Given the description of an element on the screen output the (x, y) to click on. 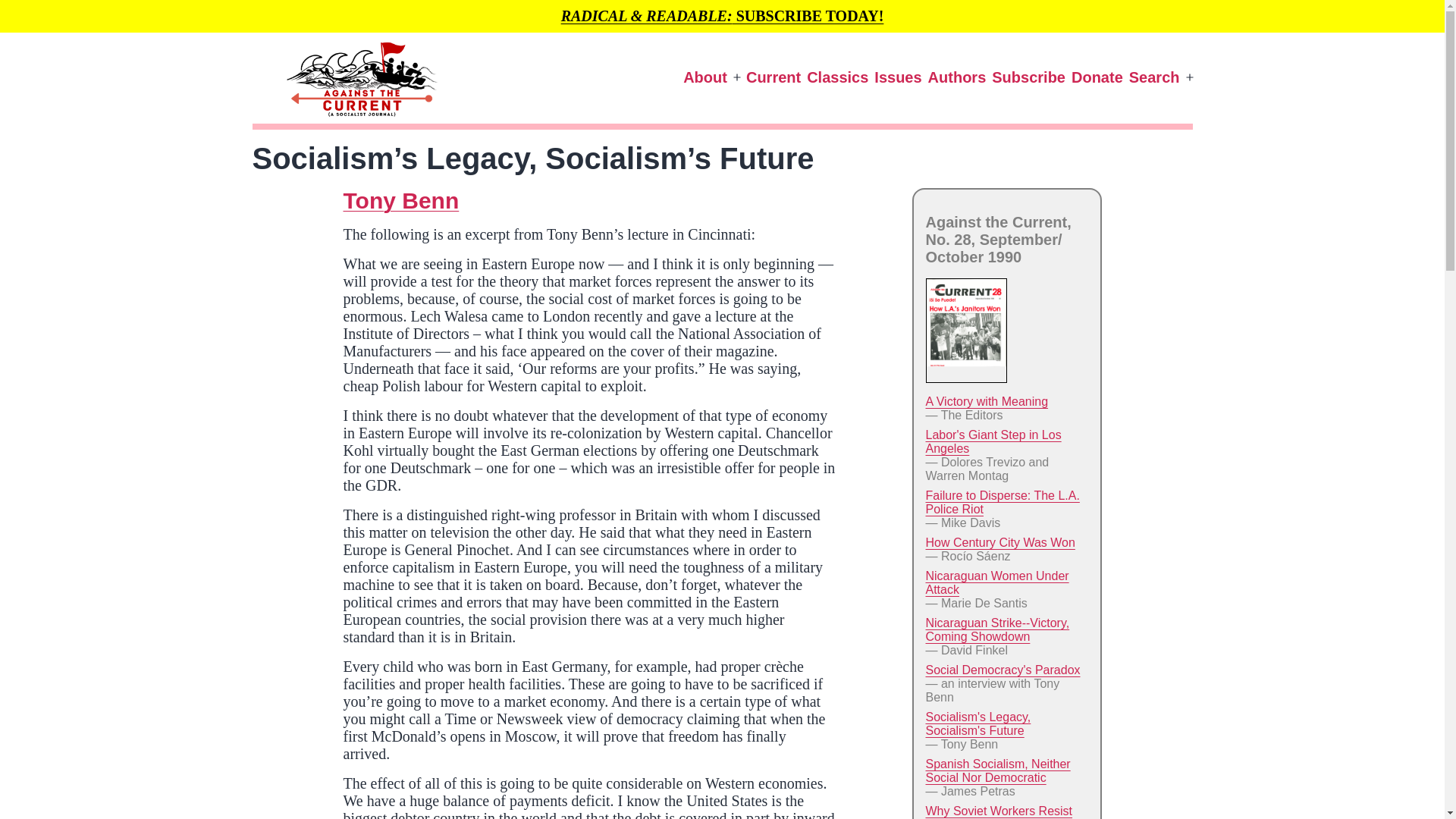
Authors (957, 78)
A Victory with Meaning (986, 400)
Donate (1096, 78)
How Century City Was Won (999, 542)
Classics (836, 78)
Nicaraguan Strike--Victory, Coming Showdown (996, 629)
Socialism's Legacy, Socialism's Future (977, 723)
Social Democracy's Paradox (1002, 669)
Issues (897, 78)
Search (1153, 78)
